Given the description of an element on the screen output the (x, y) to click on. 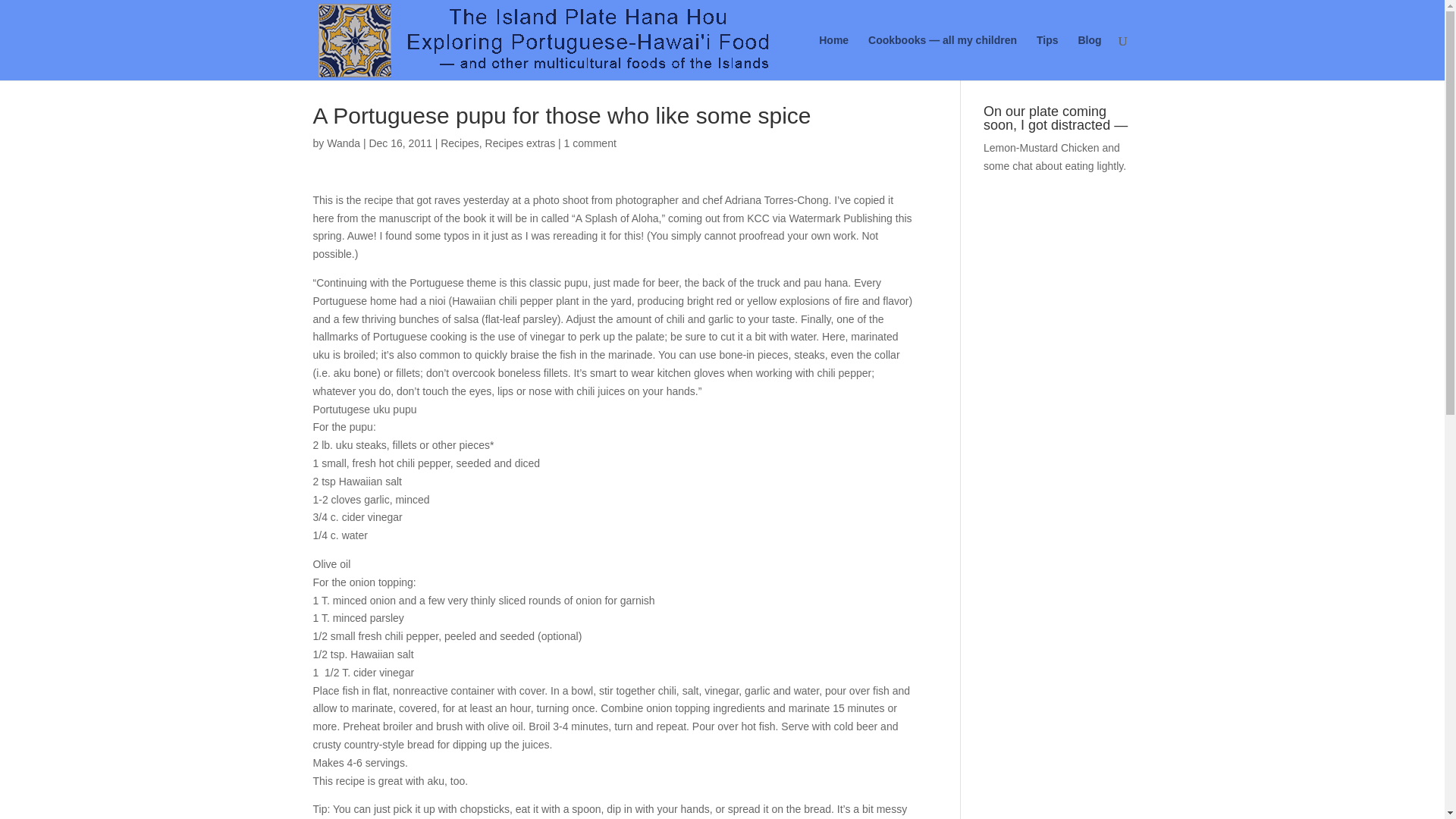
Posts by Wanda (342, 143)
Wanda (342, 143)
1 comment (589, 143)
Recipes extras (520, 143)
Recipes (460, 143)
